Given the description of an element on the screen output the (x, y) to click on. 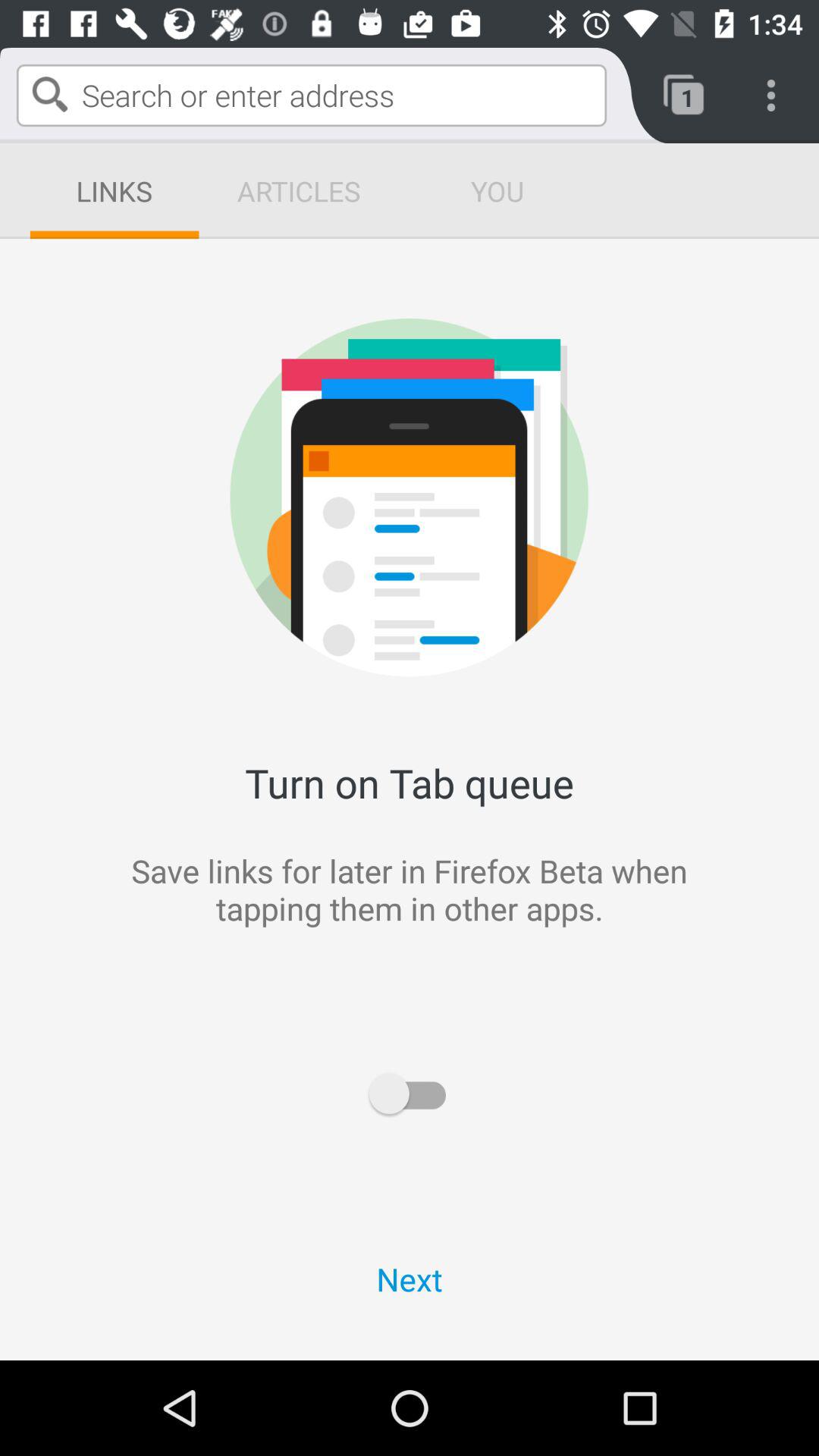
select the search icon (49, 94)
click on the search bar (311, 95)
click the toggle button (409, 1094)
select the text below turn on tab queue (607, 951)
click on the text below turn on tab queue (211, 951)
select the image above the text turn on tab queue (607, 370)
click next (409, 1278)
go to articles (298, 190)
